Given the description of an element on the screen output the (x, y) to click on. 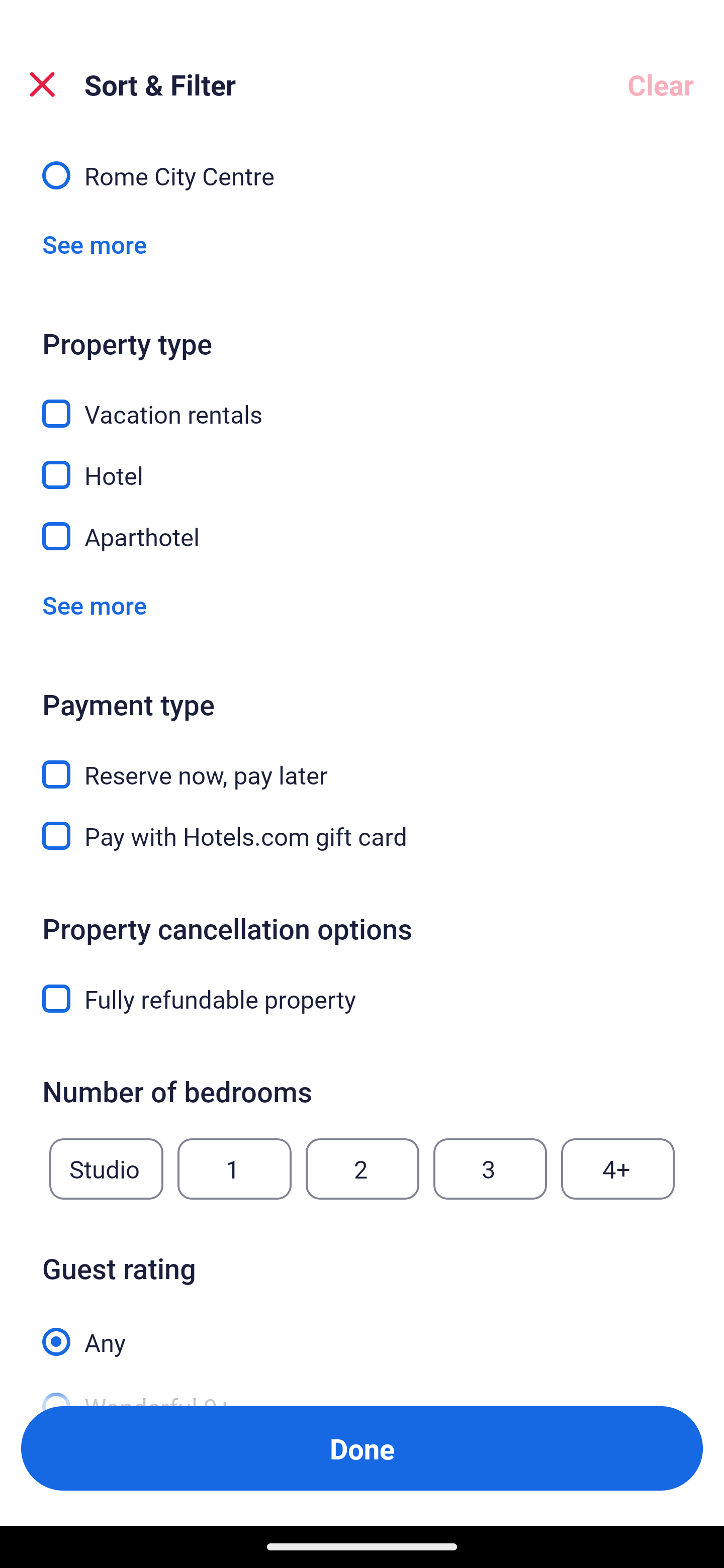
Close Sort and Filter (42, 84)
Clear (660, 84)
Rome City Centre (361, 173)
See more See more neighborhoods Link (93, 244)
Vacation rentals, Vacation rentals (361, 401)
Hotel, Hotel (361, 462)
Aparthotel, Aparthotel (361, 535)
See more See more property types Link (93, 604)
Reserve now, pay later, Reserve now, pay later (361, 762)
Studio (106, 1168)
1 (234, 1168)
2 (362, 1168)
3 (490, 1168)
4+ (617, 1168)
Apply and close Sort and Filter Done (361, 1448)
